Given the description of an element on the screen output the (x, y) to click on. 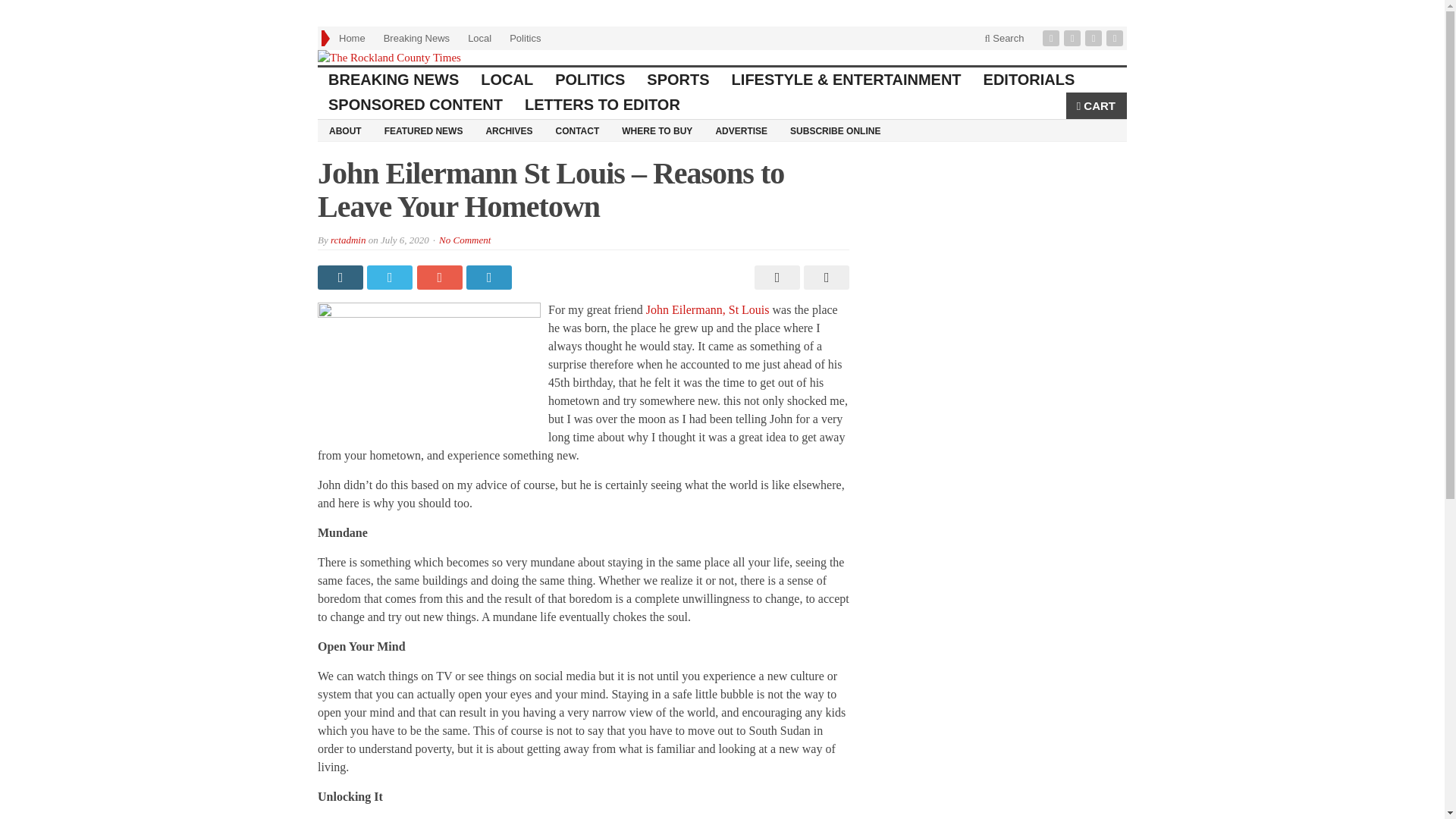
ARCHIVES (508, 129)
SPORTS (678, 79)
LETTERS TO EDITOR (602, 104)
ABOUT (344, 129)
John Eilermann, St Louis (708, 309)
Share on LinkedIn (490, 277)
ADVERTISE (740, 129)
Politics (525, 37)
BREAKING NEWS (393, 79)
Site feed (1115, 37)
